Given the description of an element on the screen output the (x, y) to click on. 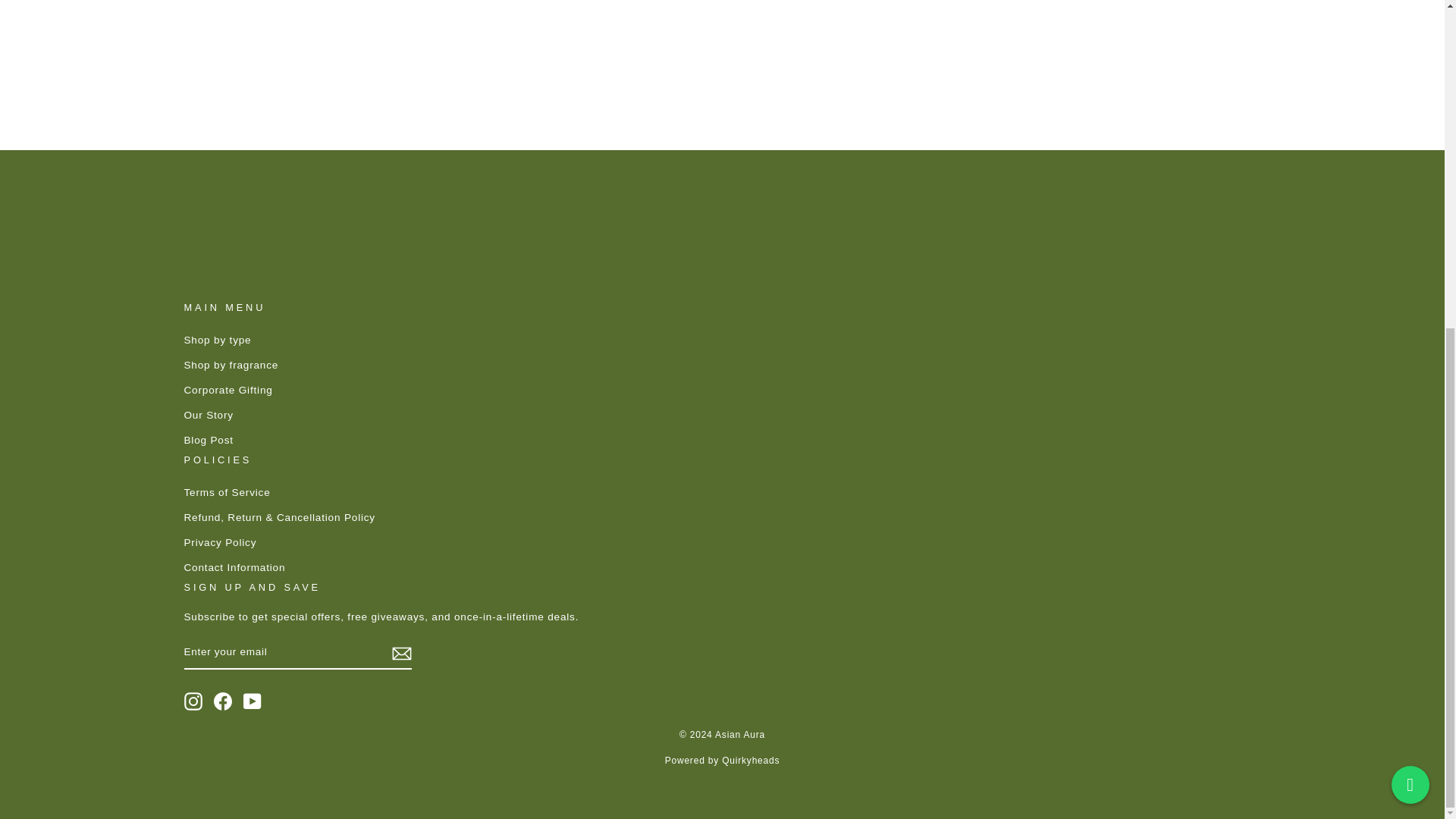
Asian Aura on Facebook (222, 701)
Asian Aura on YouTube (251, 701)
icon-email (400, 653)
Asian Aura on Instagram (192, 701)
instagram (192, 701)
